Given the description of an element on the screen output the (x, y) to click on. 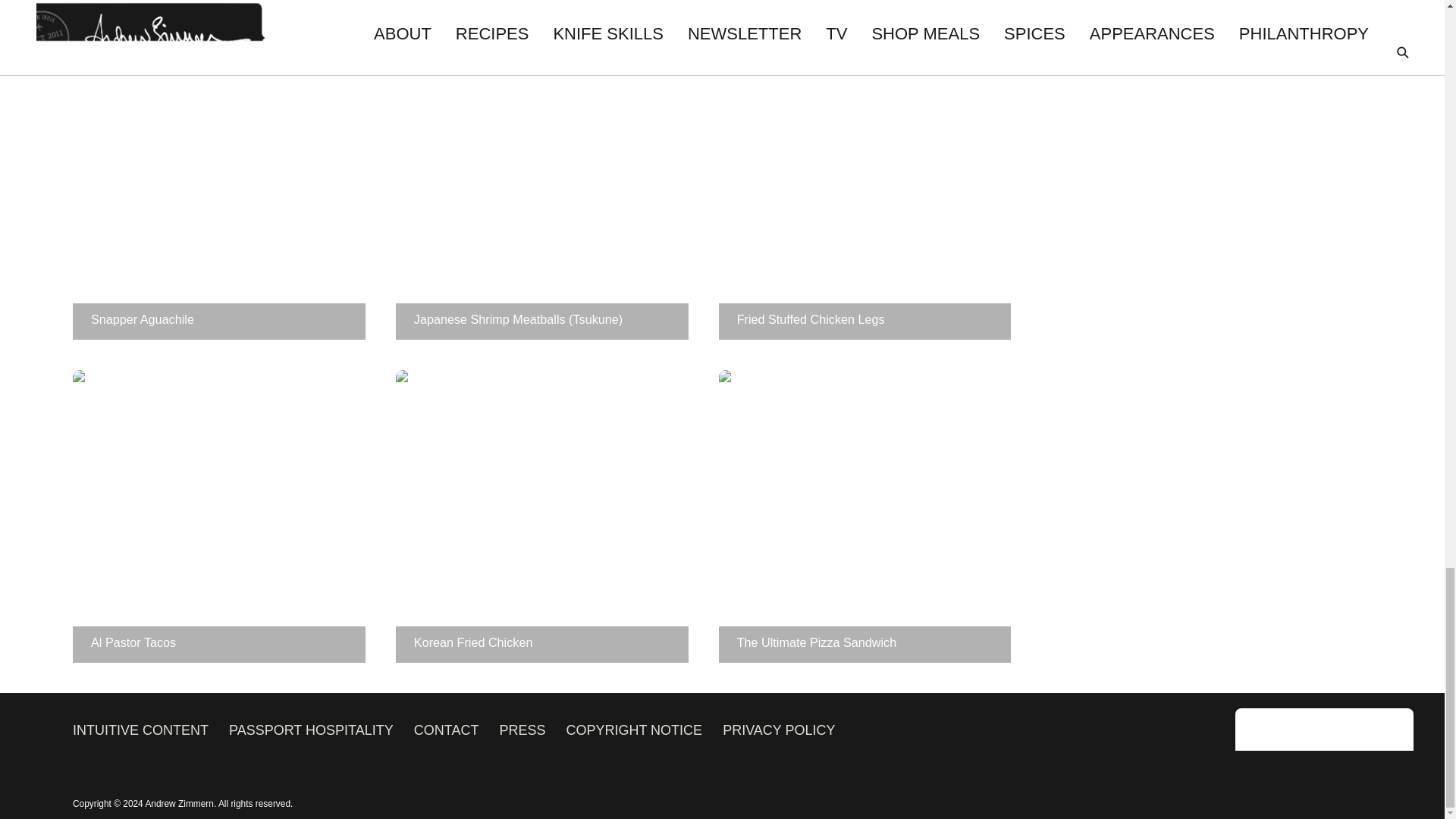
Korean Fried Chicken (542, 516)
The Ultimate Pizza Sandwich (865, 516)
Snapper Aguachile (218, 192)
Fried Stuffed Chicken Legs (865, 192)
Al Pastor Tacos (218, 516)
